Given the description of an element on the screen output the (x, y) to click on. 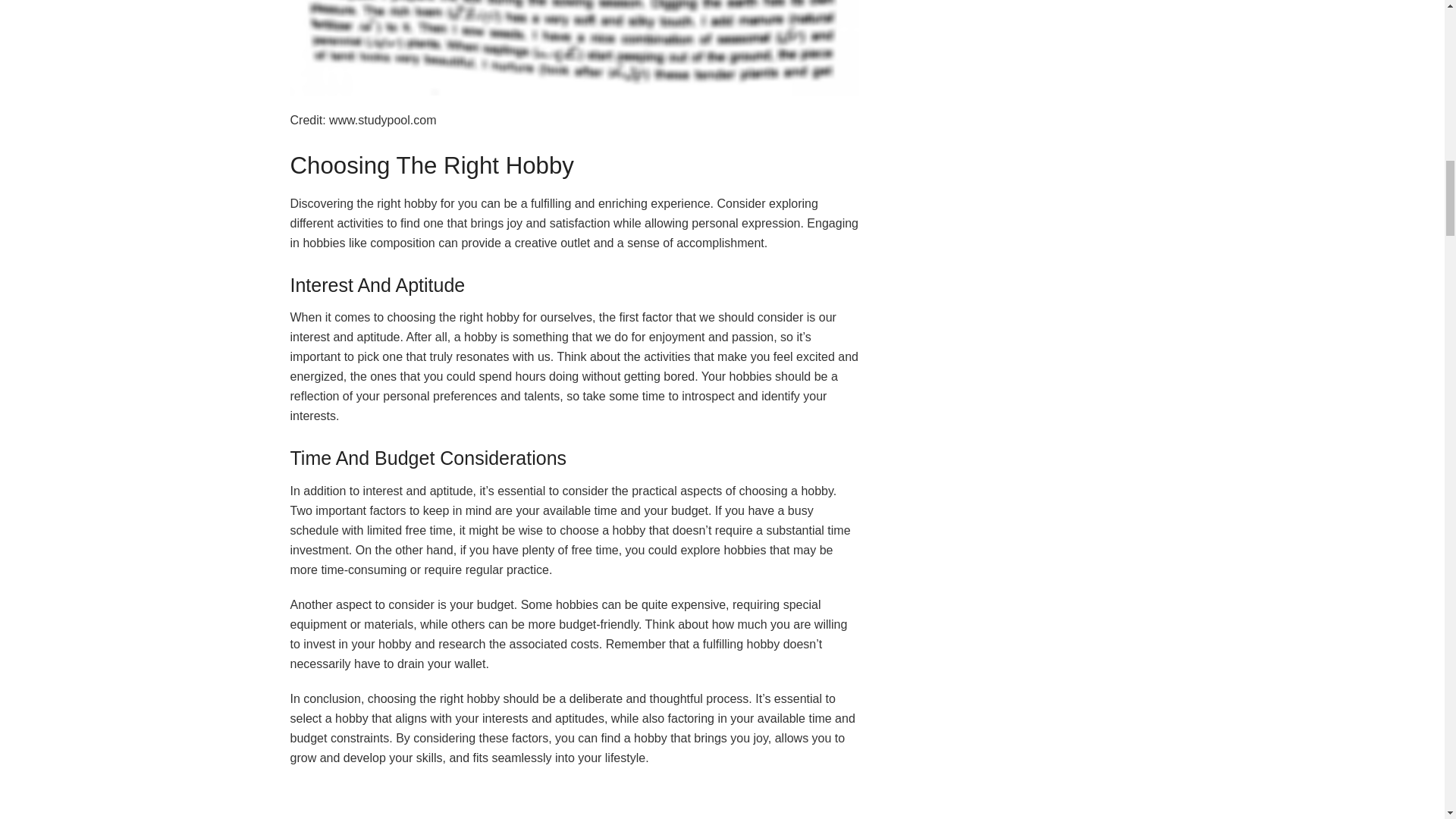
Essay writing on my hobby with heading in english (574, 800)
